Given the description of an element on the screen output the (x, y) to click on. 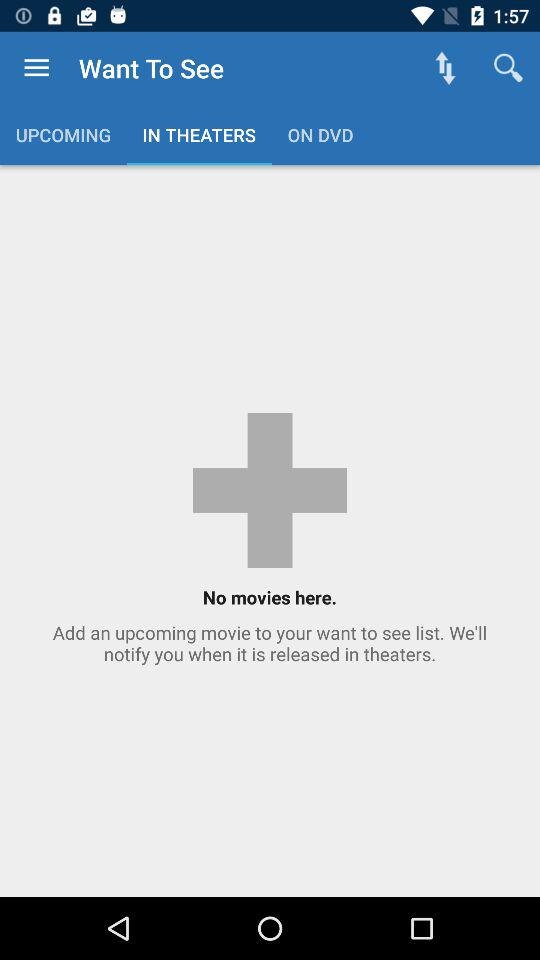
choose the item to the right of the want to see item (444, 67)
